Given the description of an element on the screen output the (x, y) to click on. 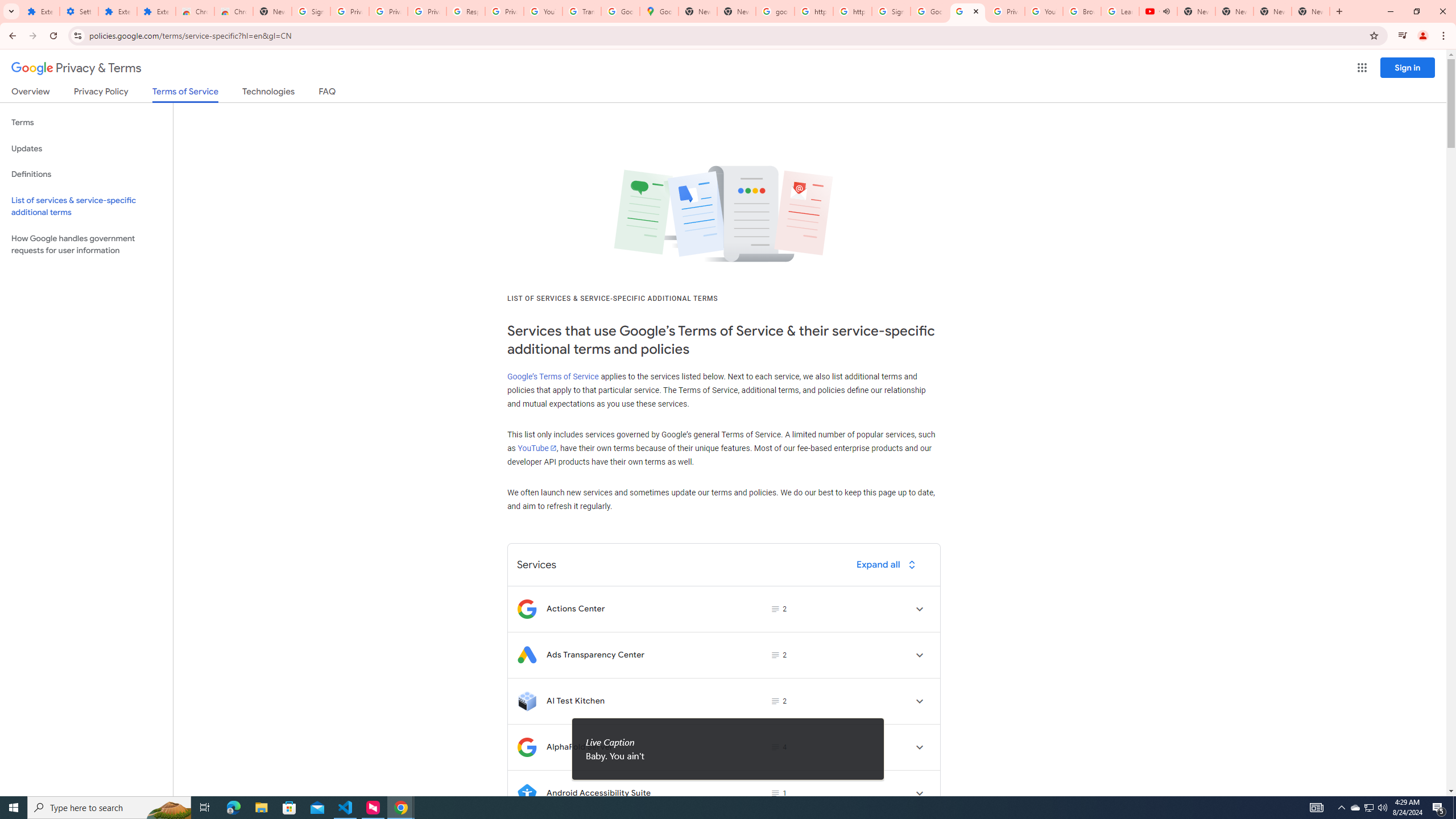
https://scholar.google.com/ (813, 11)
Chrome Web Store (194, 11)
Logo for AI Test Kitchen (526, 700)
Extensions (117, 11)
New Tab (272, 11)
